Given the description of an element on the screen output the (x, y) to click on. 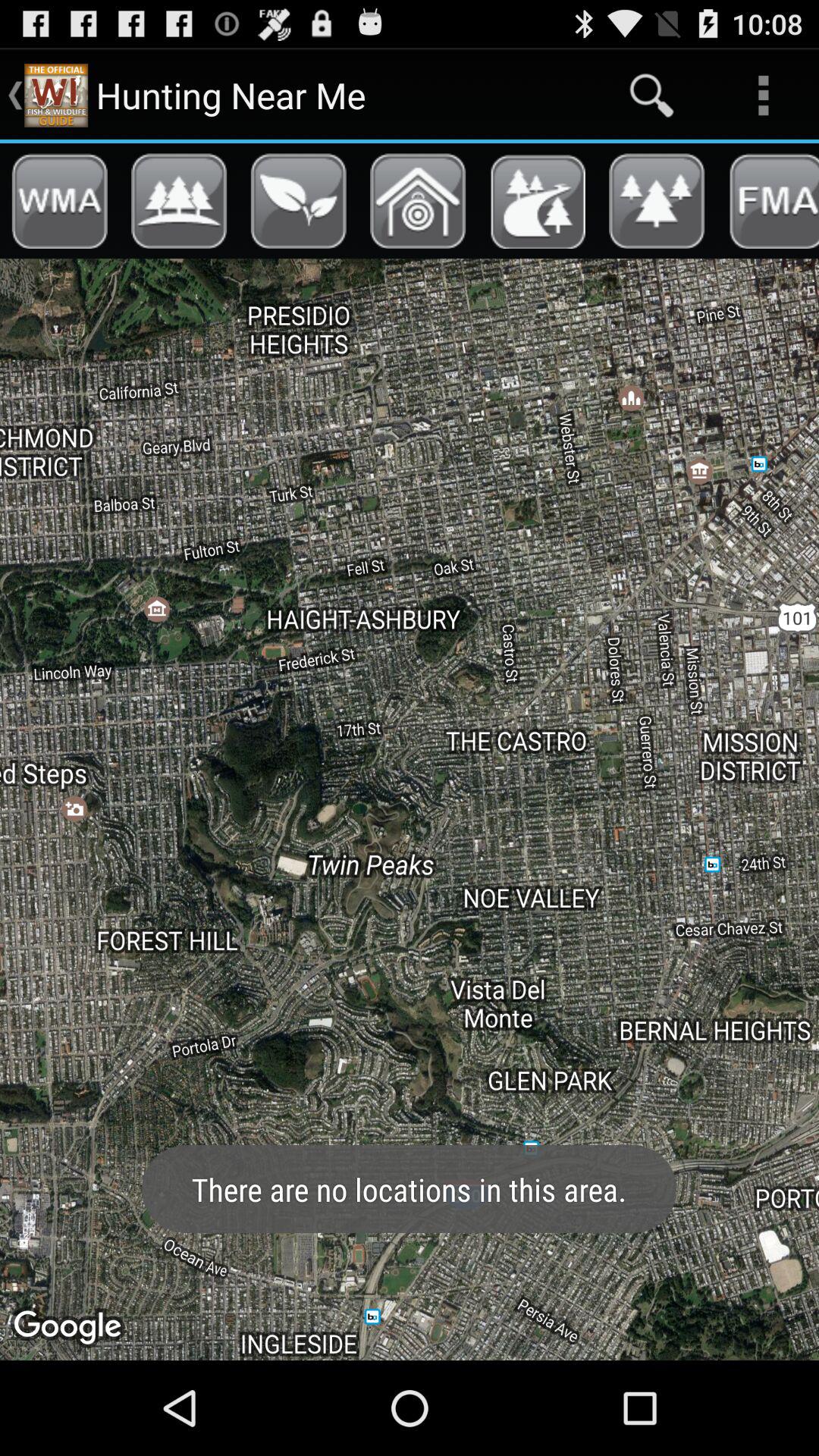
turn on item at the center (409, 809)
